Given the description of an element on the screen output the (x, y) to click on. 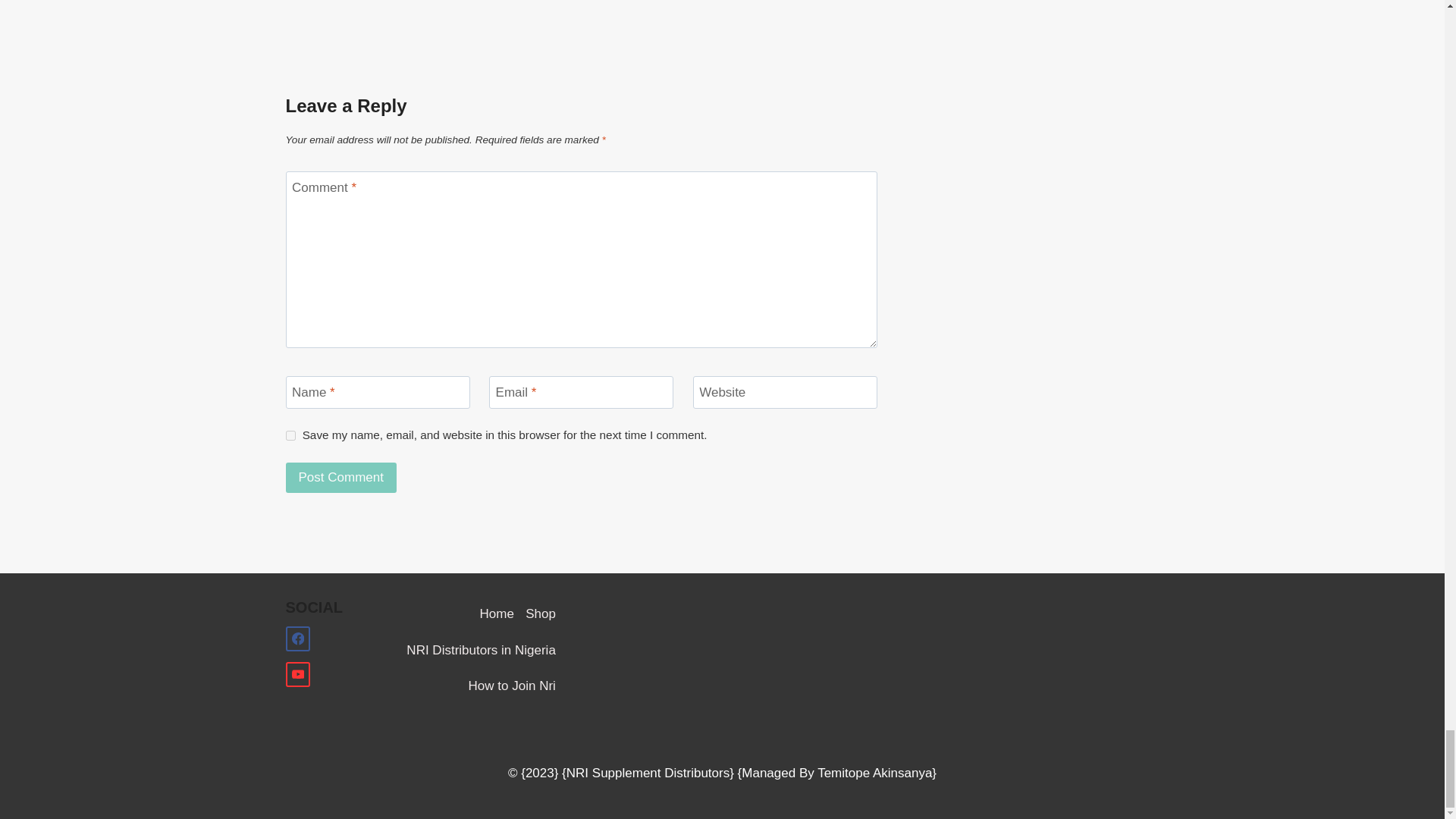
Post Comment (340, 477)
yes (290, 435)
